Given the description of an element on the screen output the (x, y) to click on. 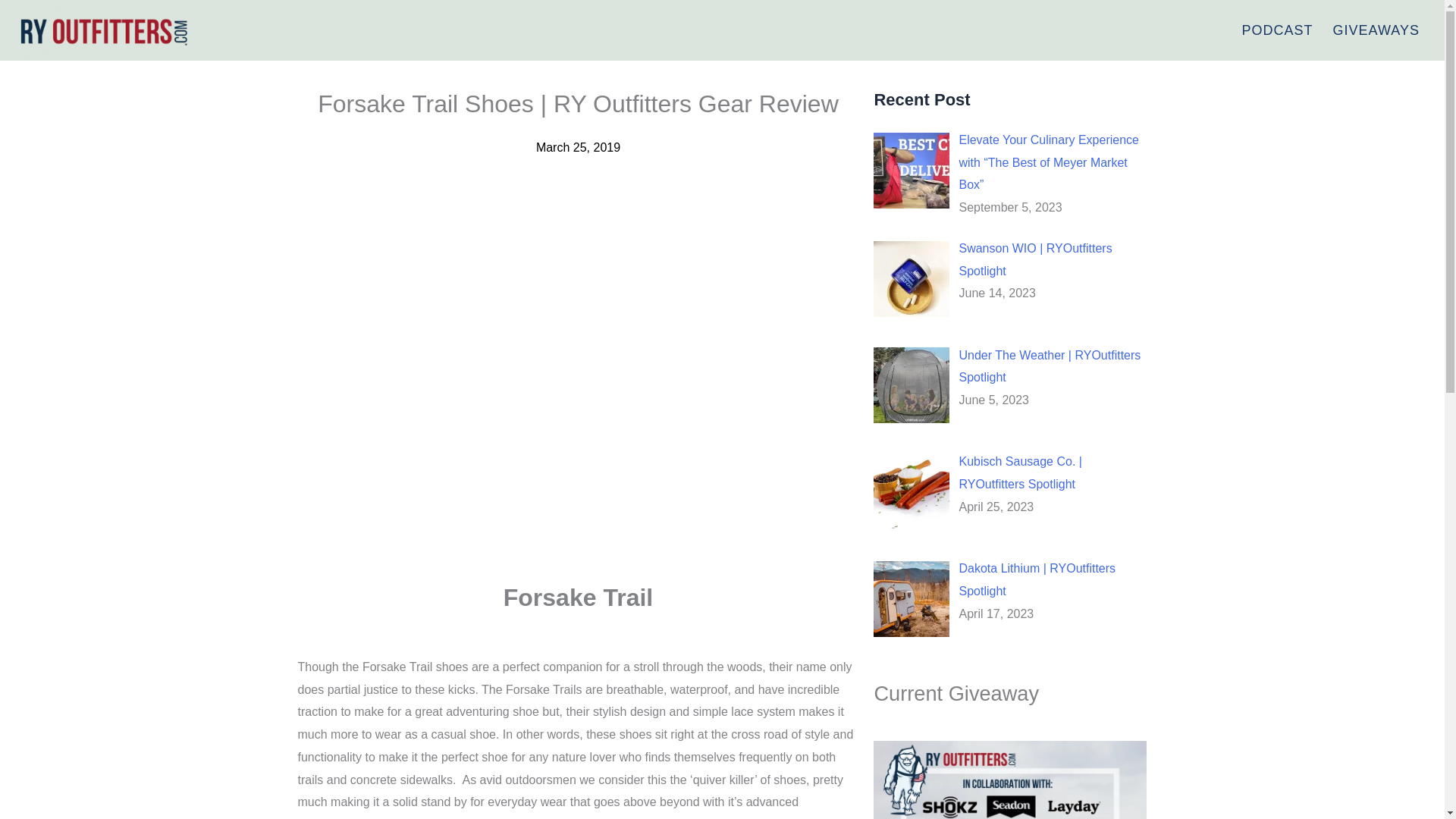
GIVEAWAYS (1376, 30)
PODCAST (1277, 30)
March 25, 2019 (577, 147)
